Given the description of an element on the screen output the (x, y) to click on. 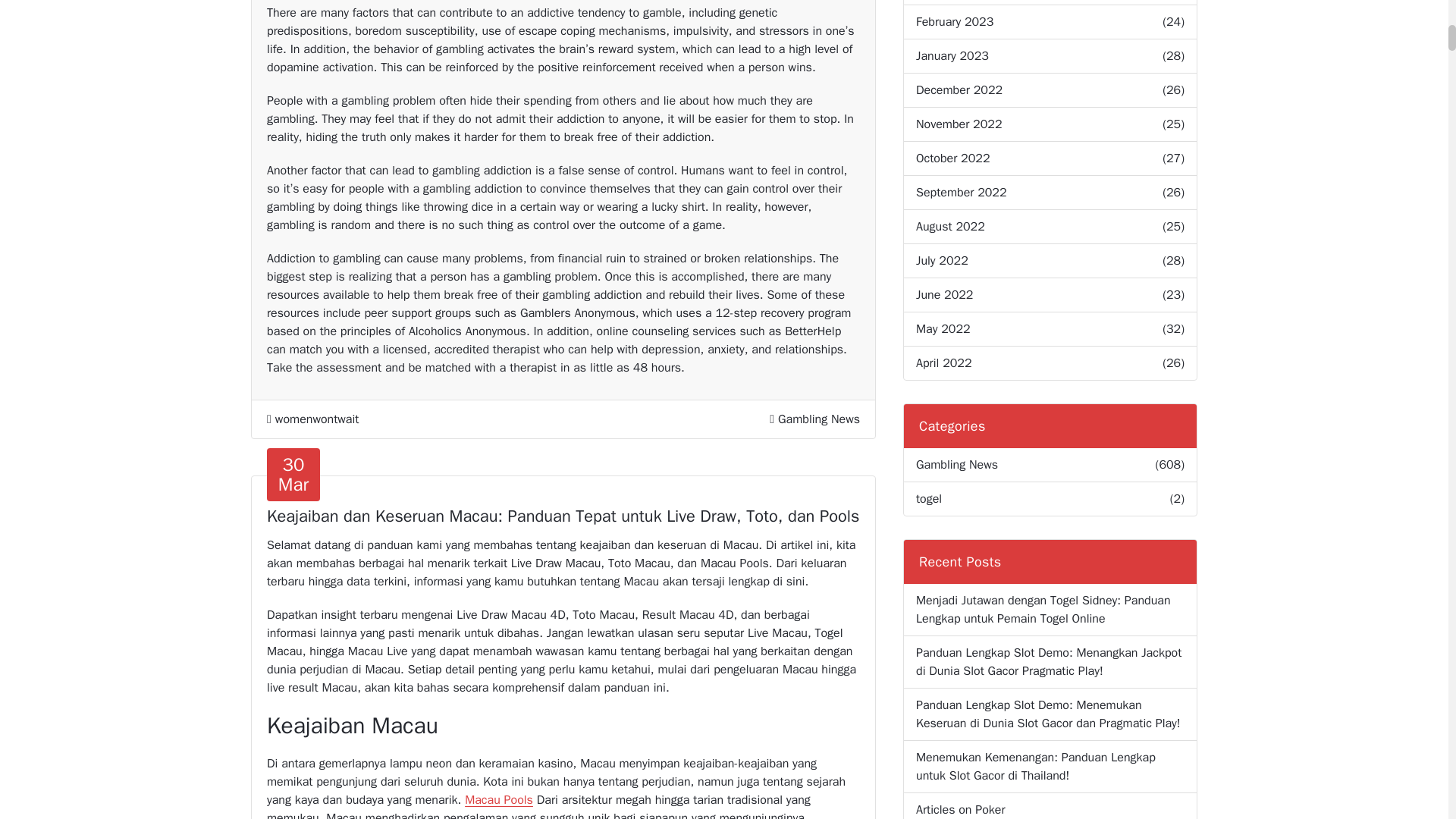
Gambling News (818, 418)
womenwontwait (312, 419)
Macau Pools (498, 799)
womenwontwait (312, 419)
